Given the description of an element on the screen output the (x, y) to click on. 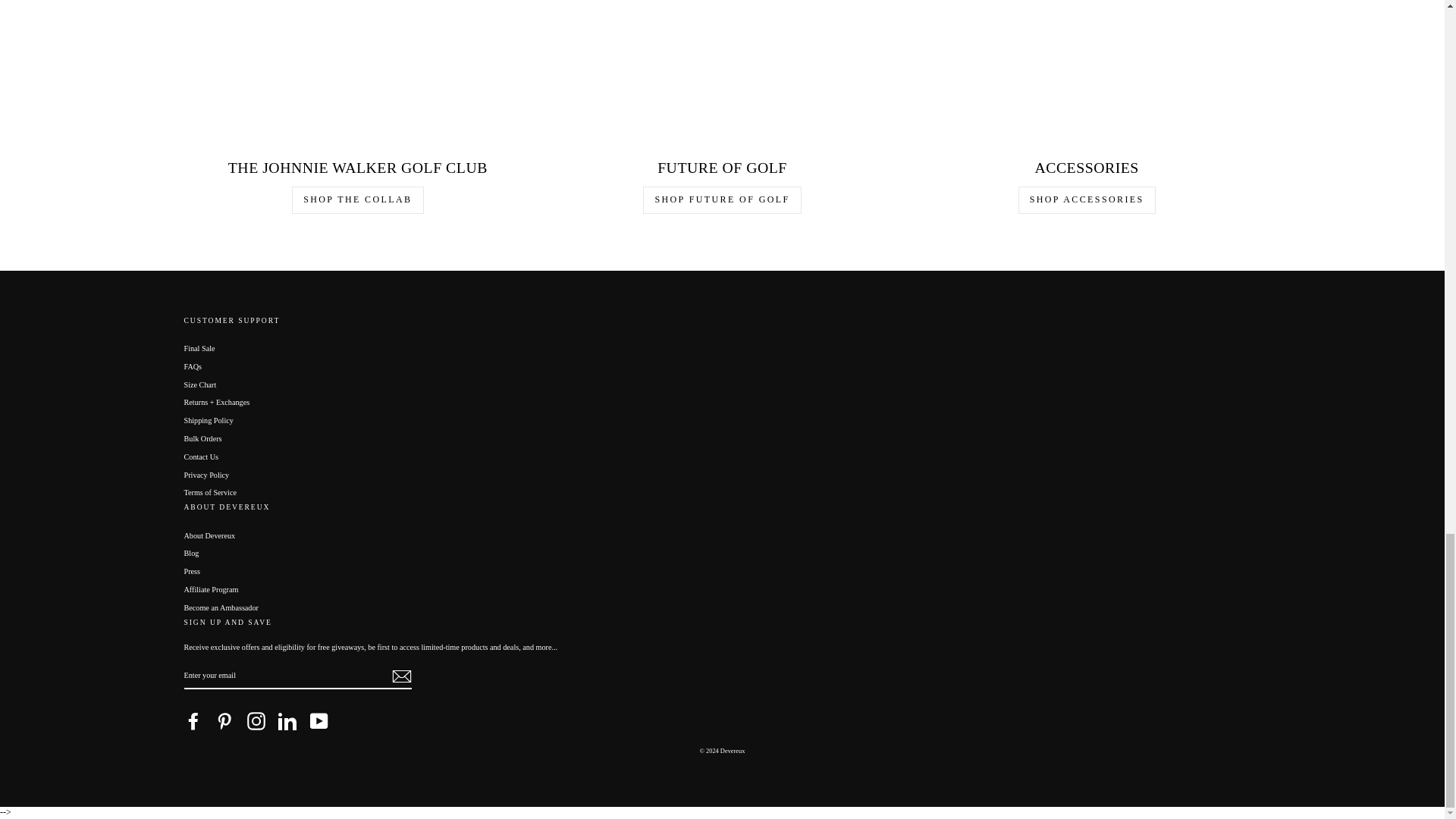
Devereux on YouTube (319, 720)
Devereux on LinkedIn (287, 720)
Devereux on Pinterest (223, 720)
Devereux on Facebook (192, 720)
Devereux on Instagram (255, 720)
